Given the description of an element on the screen output the (x, y) to click on. 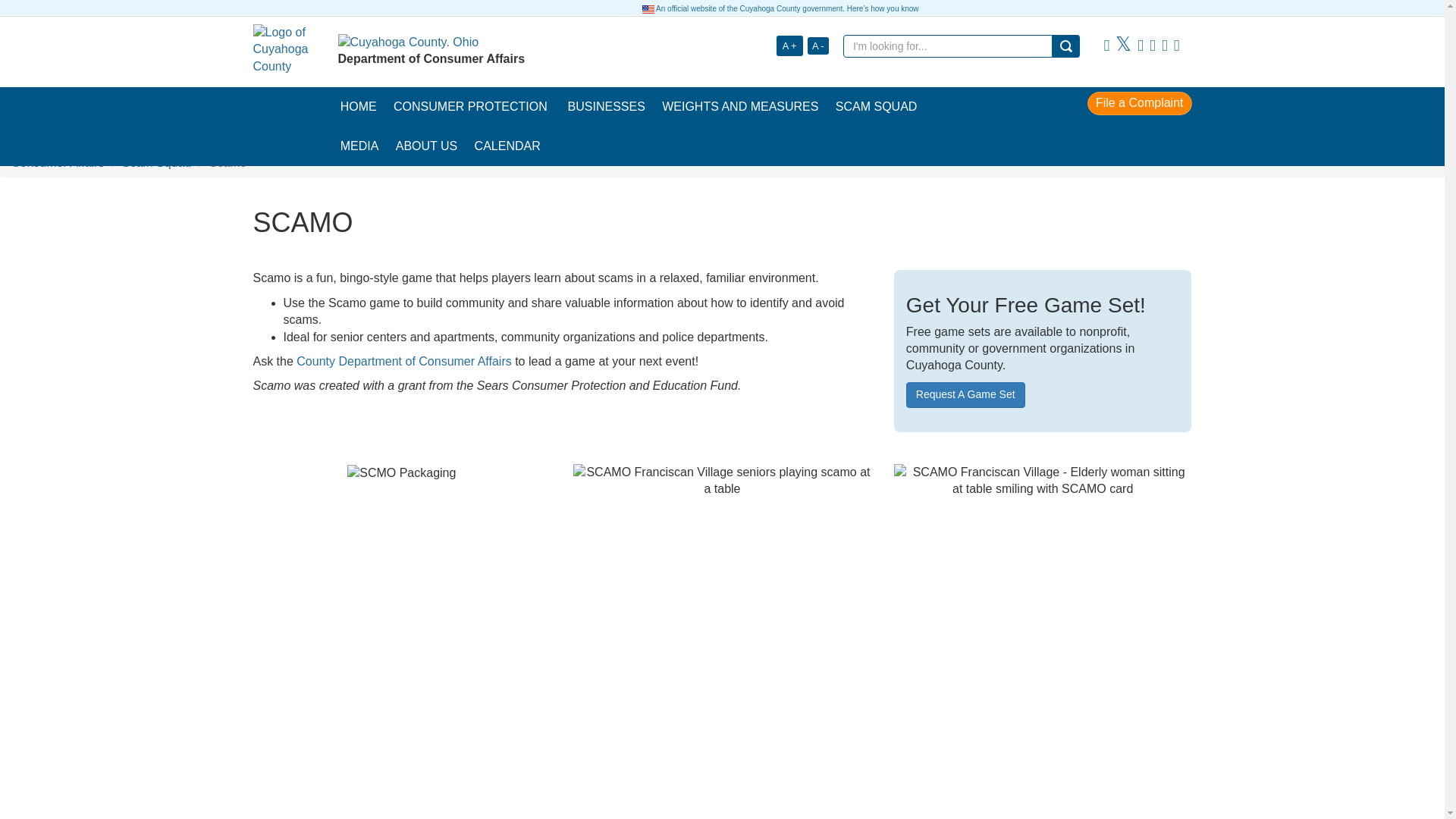
Twitter (1123, 45)
WEIGHTS AND MEASURES (740, 106)
HOME (358, 106)
A - (817, 45)
ABOUT US (426, 146)
Consumer Affairs (57, 162)
Request A Game Set (965, 394)
MEDIA (359, 146)
CALENDAR (506, 146)
BUSINESSES (606, 106)
County Department of Consumer Affairs (404, 360)
Twitter (1123, 45)
Scam Squad (157, 162)
CONSUMER PROTECTION  (472, 106)
File a Complaint (1139, 102)
